Given the description of an element on the screen output the (x, y) to click on. 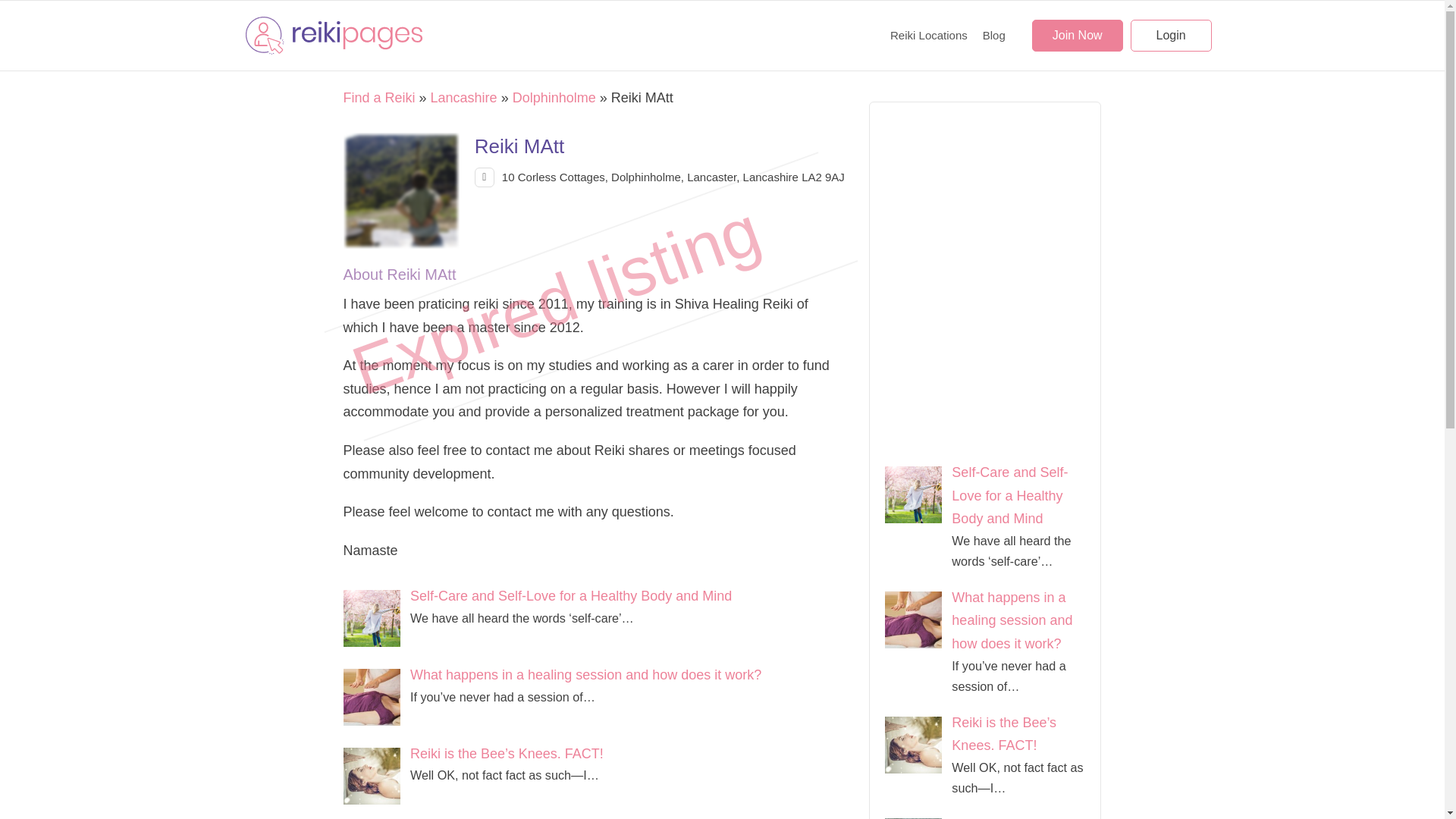
Self-Care and Self-Love for a Healthy Body and Mind (571, 595)
Lancashire (463, 97)
Self-Care and Self-Love for a Healthy Body and Mind (376, 620)
What happens in a healing session and how does it work? (585, 674)
What happens in a healing session and how does it work? (1011, 620)
Dolphinholme (553, 97)
Find a Reiki (378, 97)
What happens in a healing session and how does it work? (585, 674)
Blog (994, 35)
Login (1171, 35)
Self-Care and Self-Love for a Healthy Body and Mind (1009, 495)
Self-Care and Self-Love for a Healthy Body and Mind (571, 595)
Join Now (1077, 35)
Reiki MAtt (401, 190)
What happens in a healing session and how does it work? (376, 698)
